Given the description of an element on the screen output the (x, y) to click on. 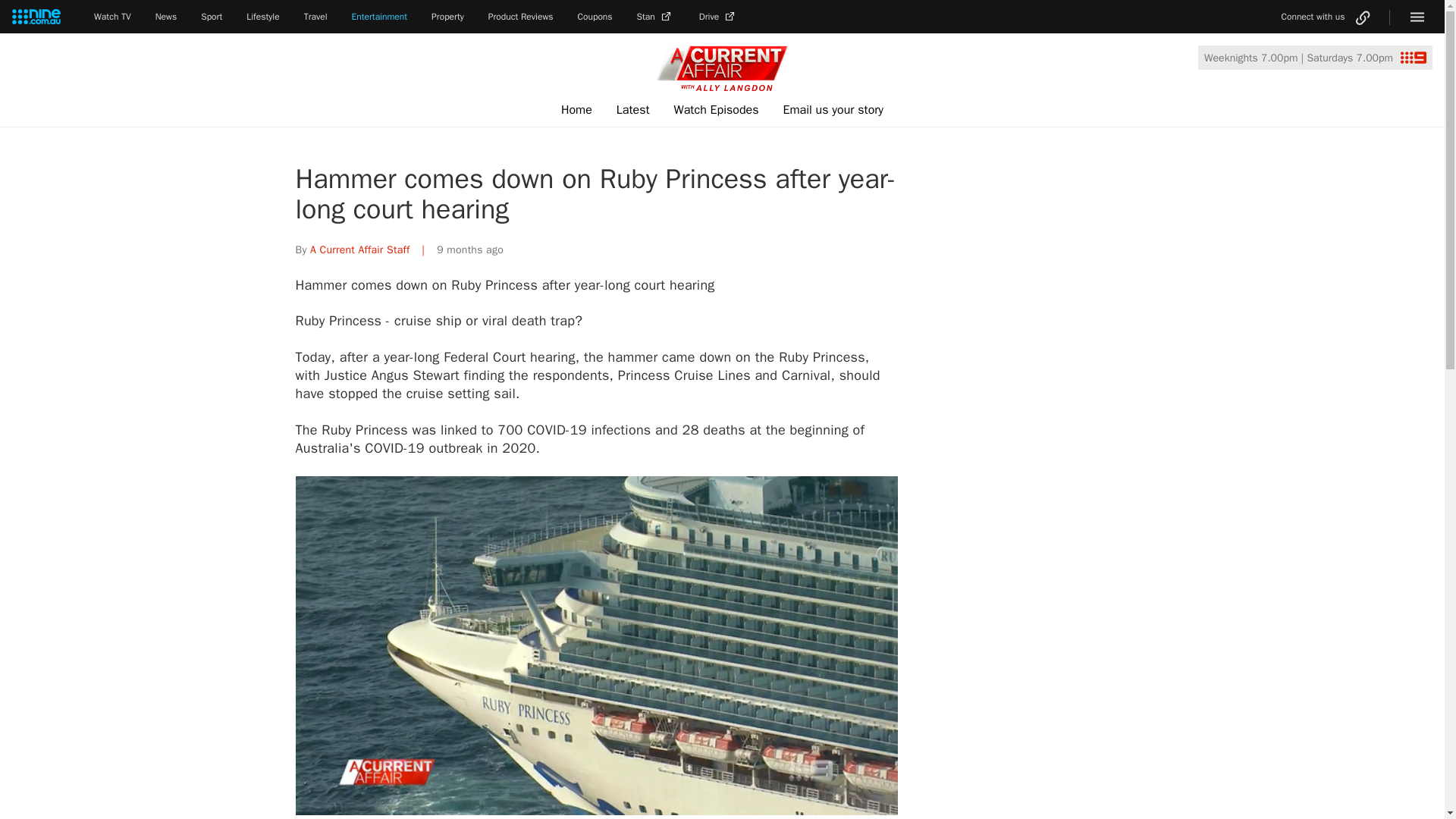
Home (576, 109)
Drive (718, 16)
Product Reviews (520, 16)
Stan (656, 16)
Coupons (595, 16)
Entertainment (379, 16)
Lifestyle (262, 16)
Latest (633, 109)
Email us your story (832, 109)
Watch Episodes (716, 109)
A Current Affair Staff (359, 249)
Watch TV (112, 16)
Property (447, 16)
